Given the description of an element on the screen output the (x, y) to click on. 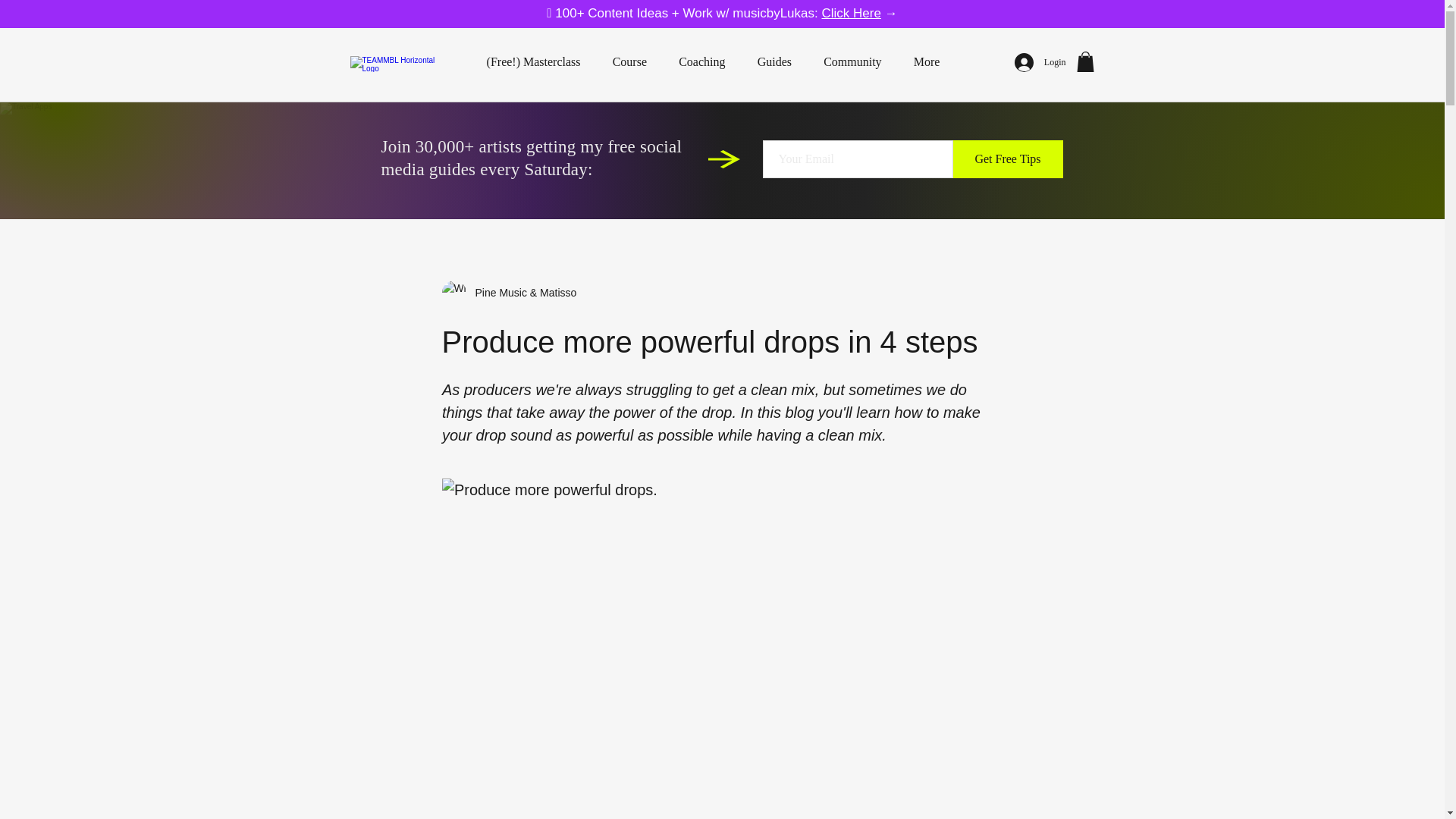
Course (629, 61)
Course (467, 159)
Login (1040, 62)
Coaching (569, 159)
Guides (774, 61)
Presets (773, 159)
Planner (671, 159)
Mastering (874, 159)
Coaching (701, 61)
